Given the description of an element on the screen output the (x, y) to click on. 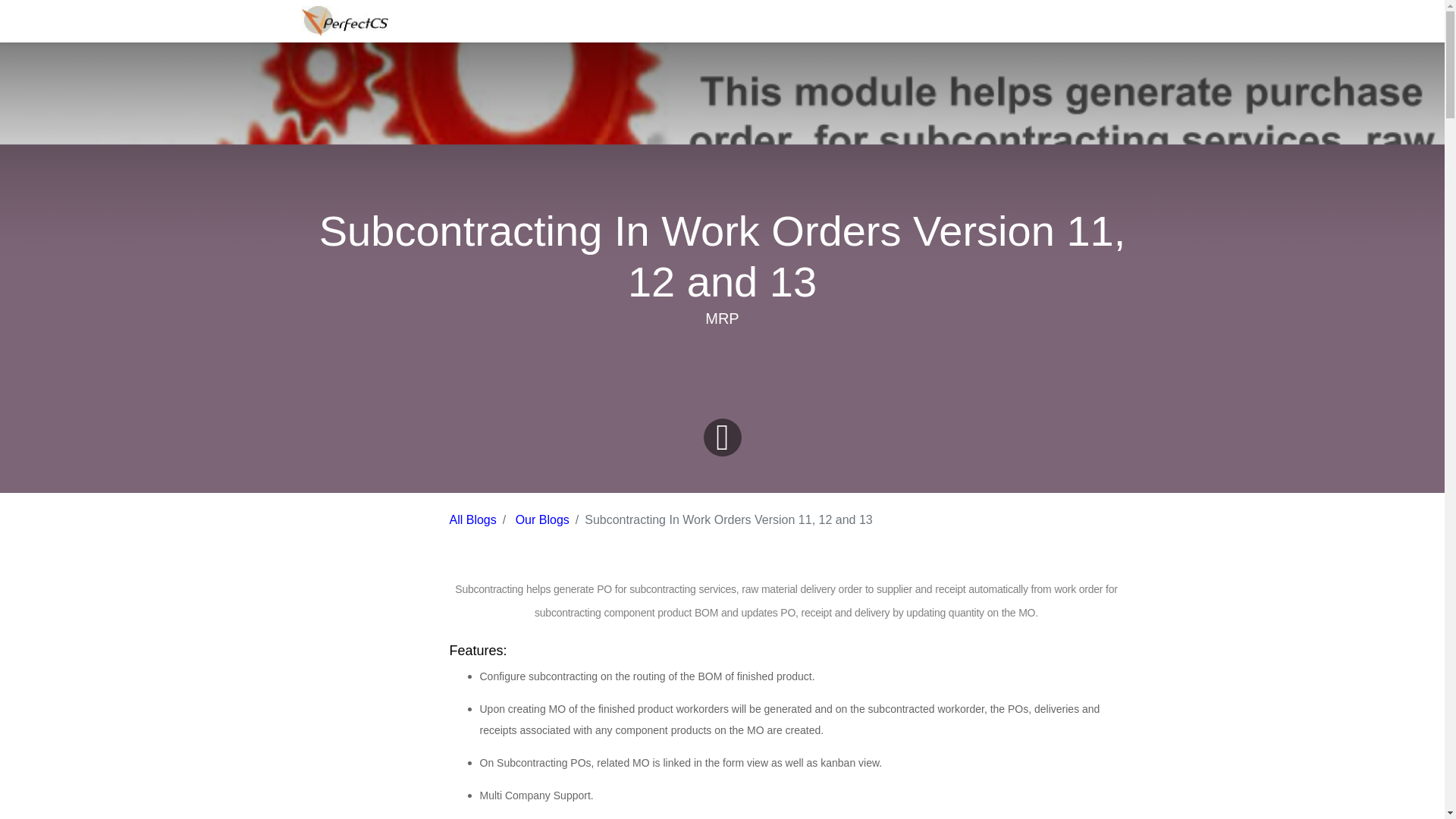
Our Blogs (542, 519)
VPCS (344, 20)
All Blogs (472, 519)
